Given the description of an element on the screen output the (x, y) to click on. 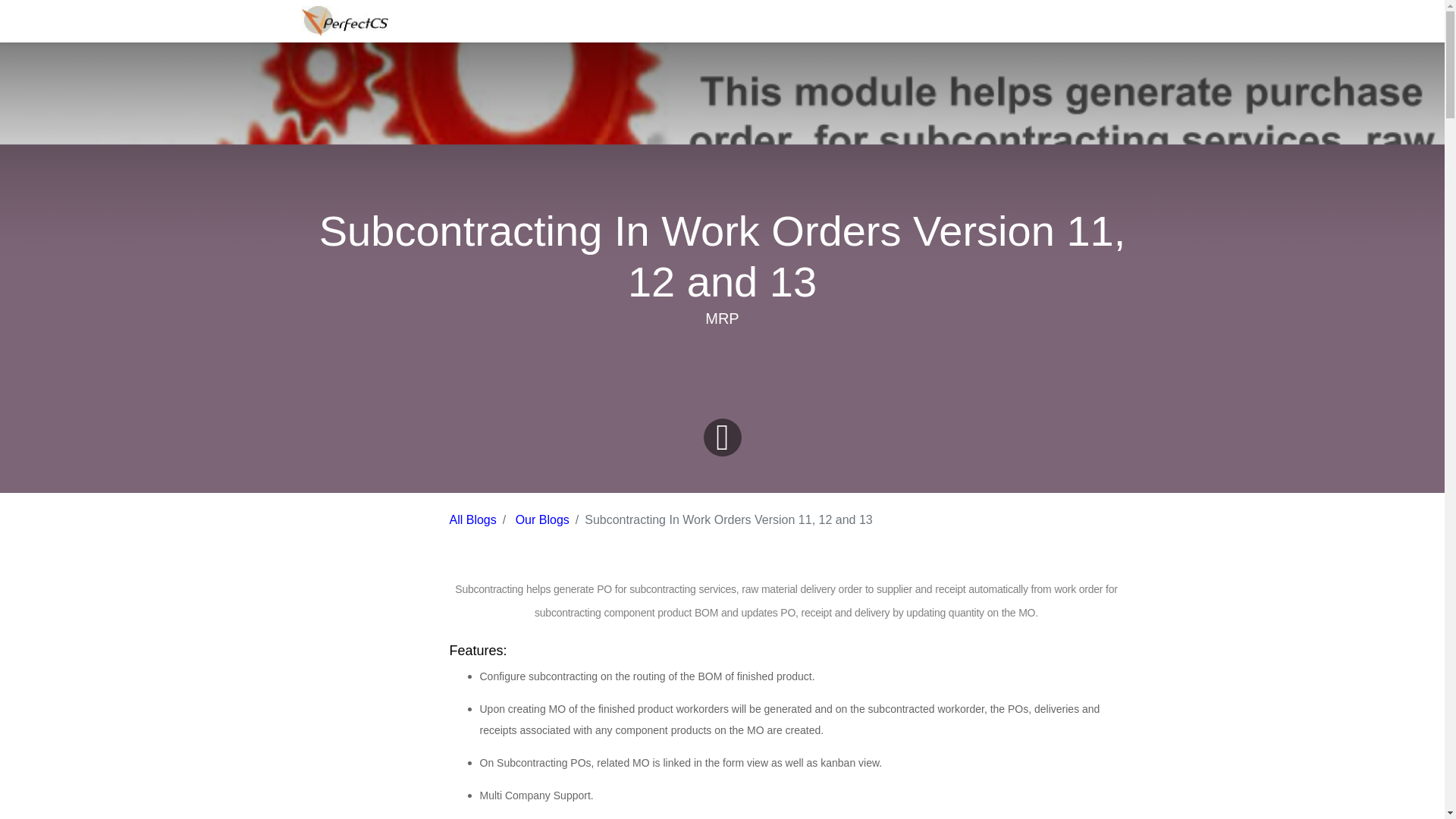
Our Blogs (542, 519)
VPCS (344, 20)
All Blogs (472, 519)
